Given the description of an element on the screen output the (x, y) to click on. 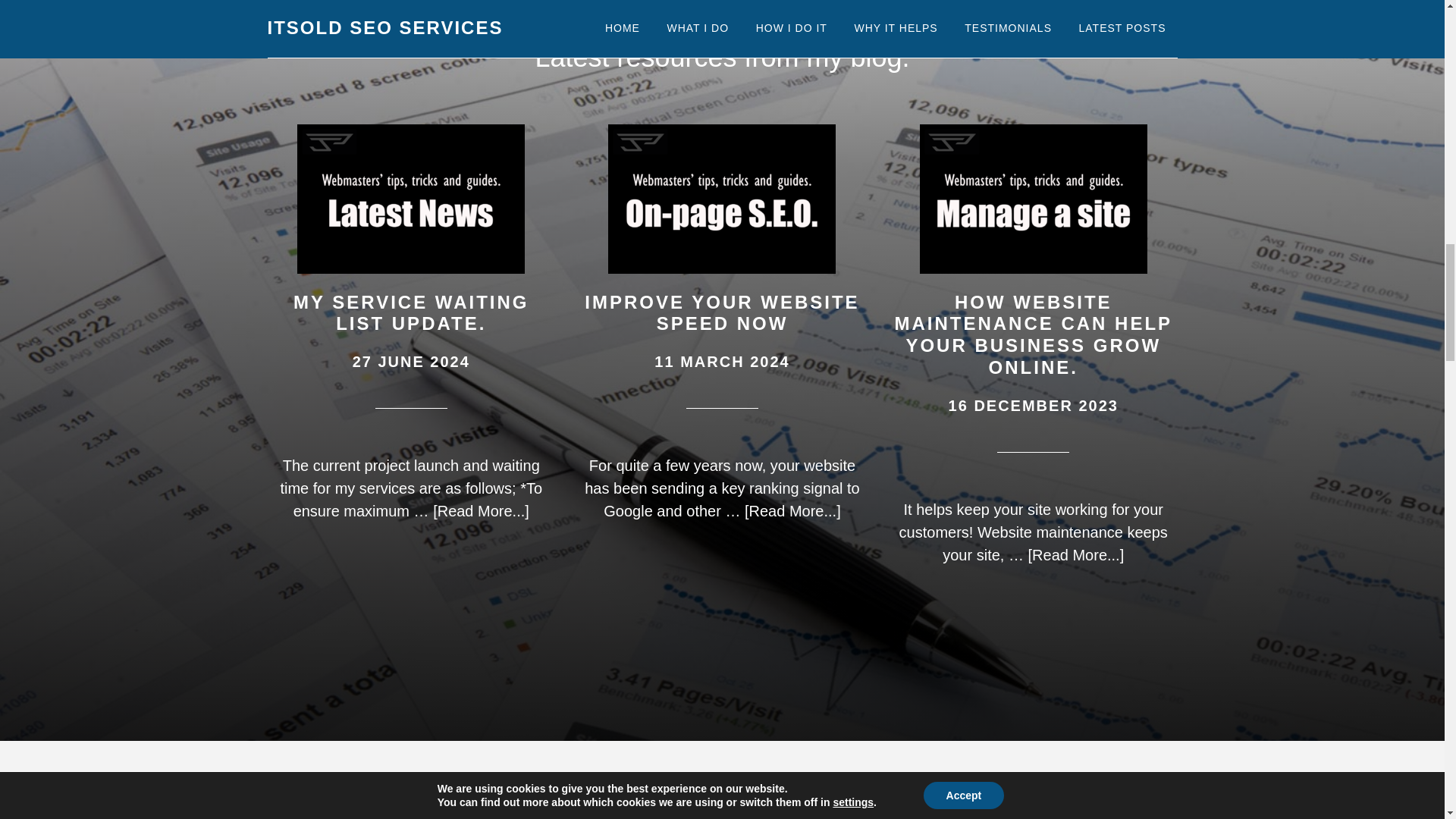
HOW WEBSITE MAINTENANCE CAN HELP YOUR BUSINESS GROW ONLINE. (1032, 334)
MY SERVICE WAITING LIST UPDATE. (411, 312)
IMPROVE YOUR WEBSITE SPEED NOW (722, 312)
